Given the description of an element on the screen output the (x, y) to click on. 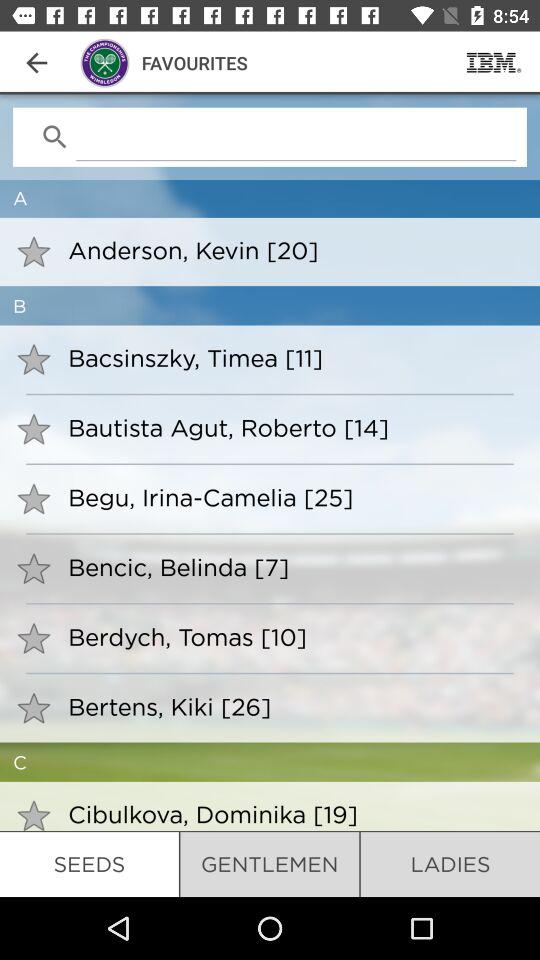
click the b (270, 305)
